Given the description of an element on the screen output the (x, y) to click on. 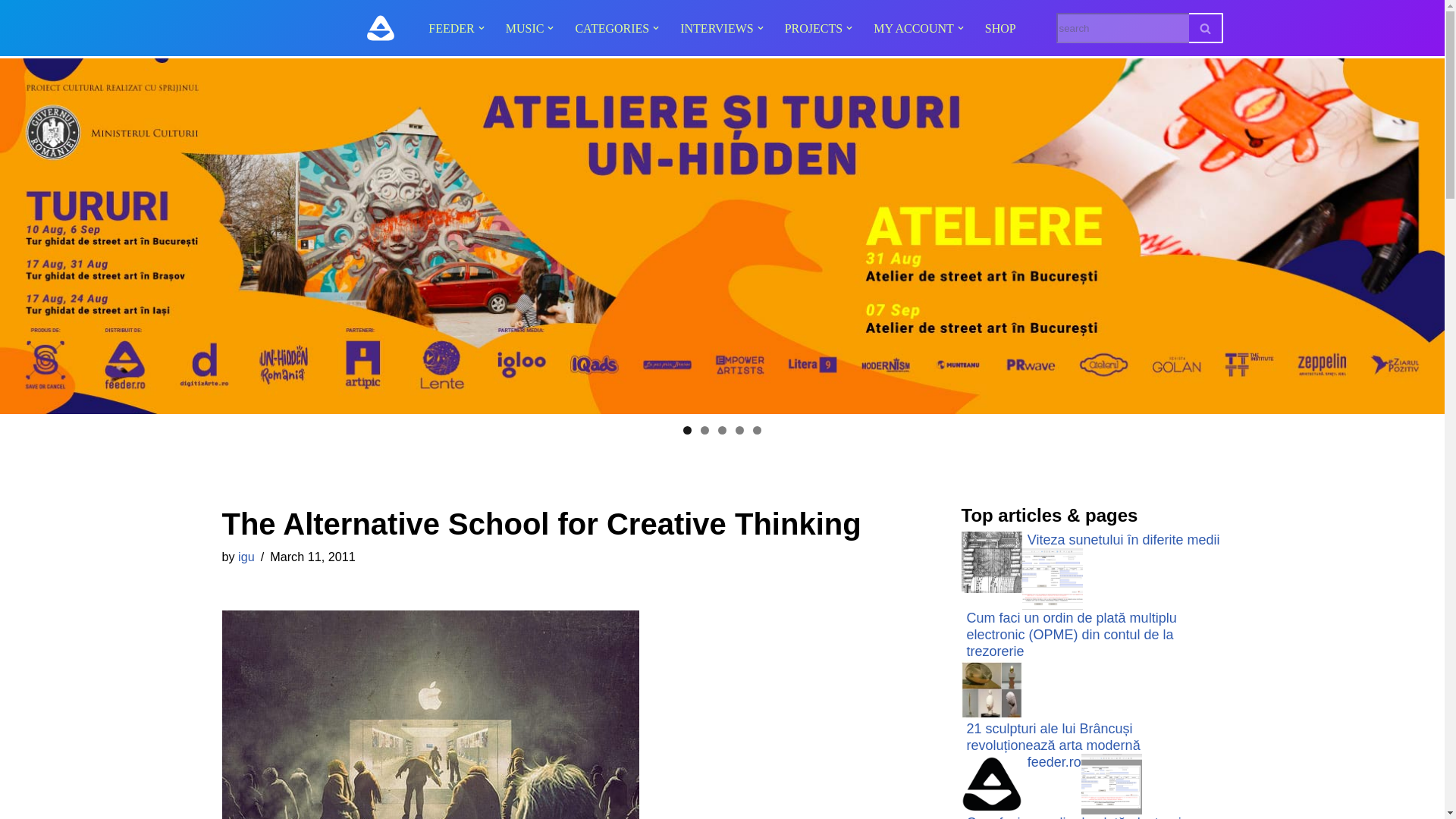
INTERVIEWS (715, 28)
CATEGORIES (612, 28)
Skip to content (11, 31)
PROJECTS (813, 28)
FEEDER (451, 28)
MUSIC (524, 28)
Posts by igu (246, 556)
